Given the description of an element on the screen output the (x, y) to click on. 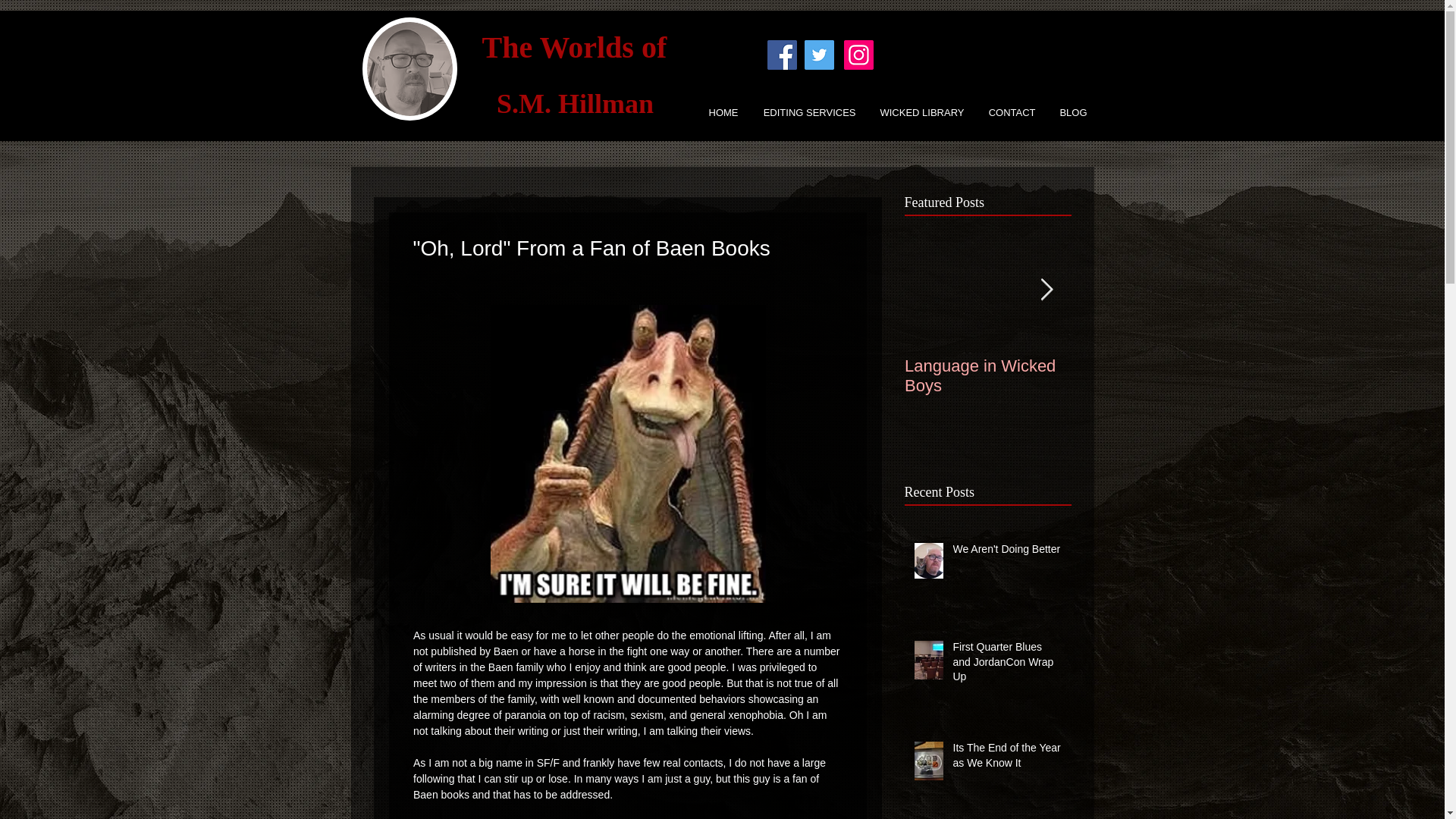
S.M. Hillman (574, 103)
Language in Wicked Boys (987, 375)
Why Inkshares? Why Wicked Boys? (1153, 375)
HOME (718, 112)
First Quarter Blues and JordanCon Wrap Up (1006, 665)
Its The End of the Year as We Know It (1006, 758)
CONTACT (1007, 112)
BLOG (1068, 112)
We Aren't Doing Better (1006, 552)
WICKED LIBRARY (918, 112)
EDITING SERVICES (804, 112)
